Given the description of an element on the screen output the (x, y) to click on. 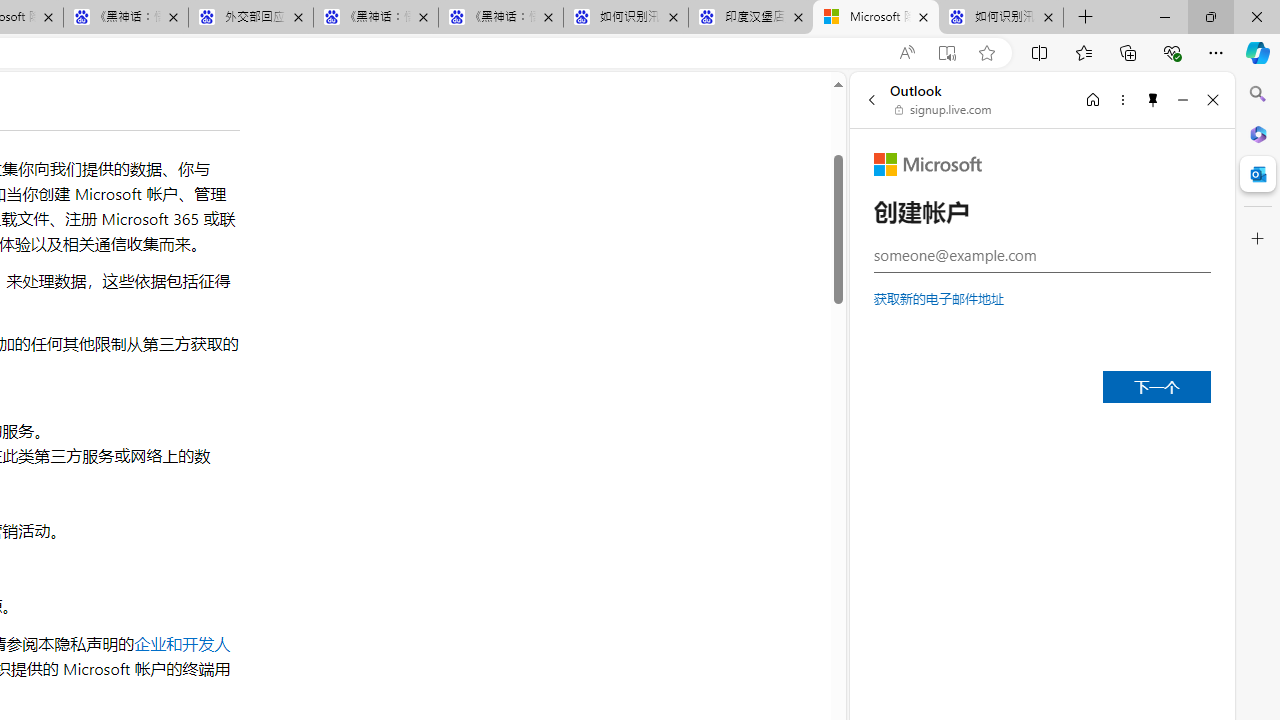
Microsoft (927, 164)
